Given the description of an element on the screen output the (x, y) to click on. 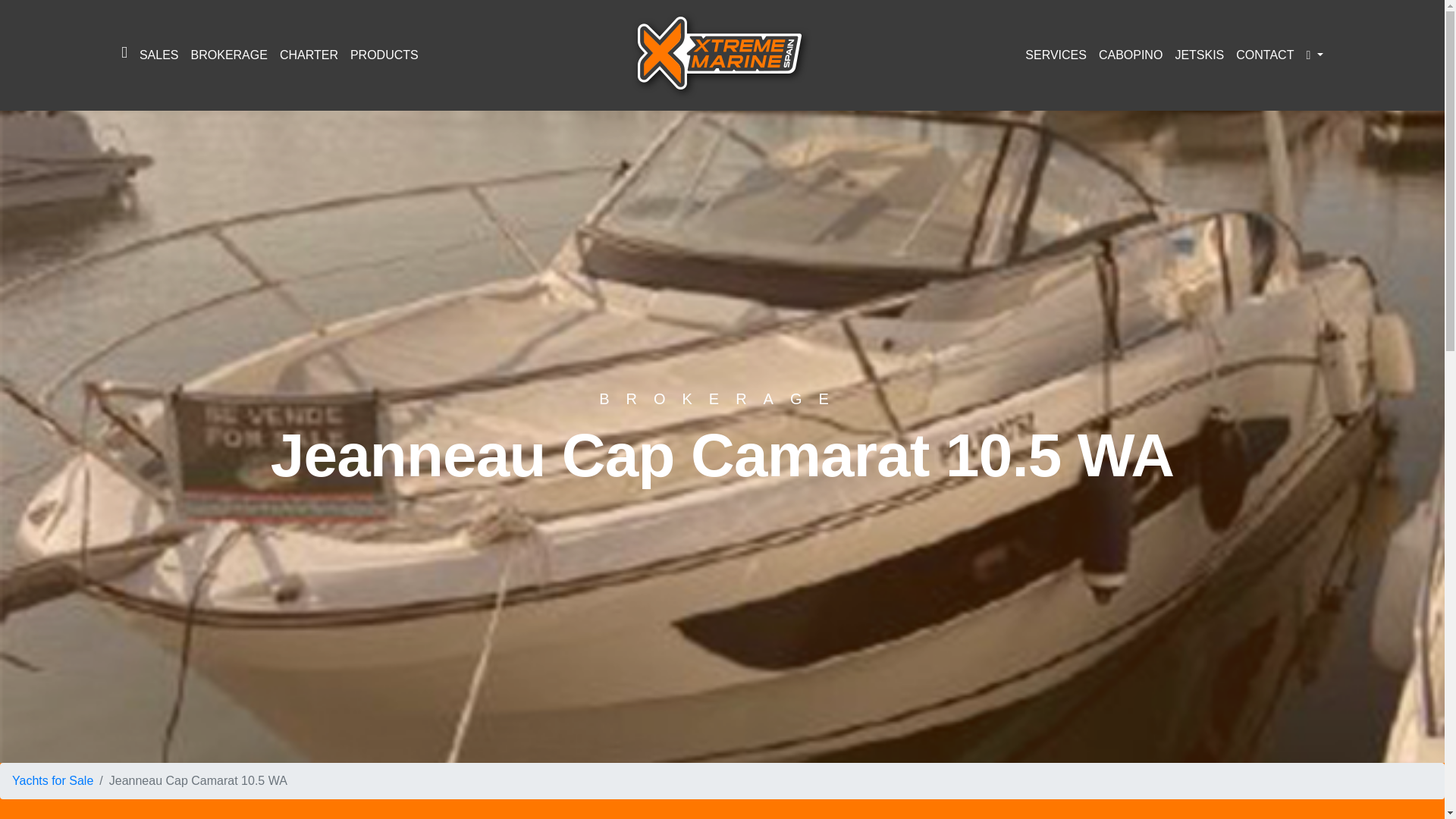
JETSKIS (1199, 55)
SERVICES (1056, 55)
CHARTER (308, 55)
PRODUCTS (384, 55)
Yachts for Sale (52, 780)
SALES (158, 55)
CABOPINO (1131, 55)
BROKERAGE (228, 55)
CONTACT (1265, 55)
